Given the description of an element on the screen output the (x, y) to click on. 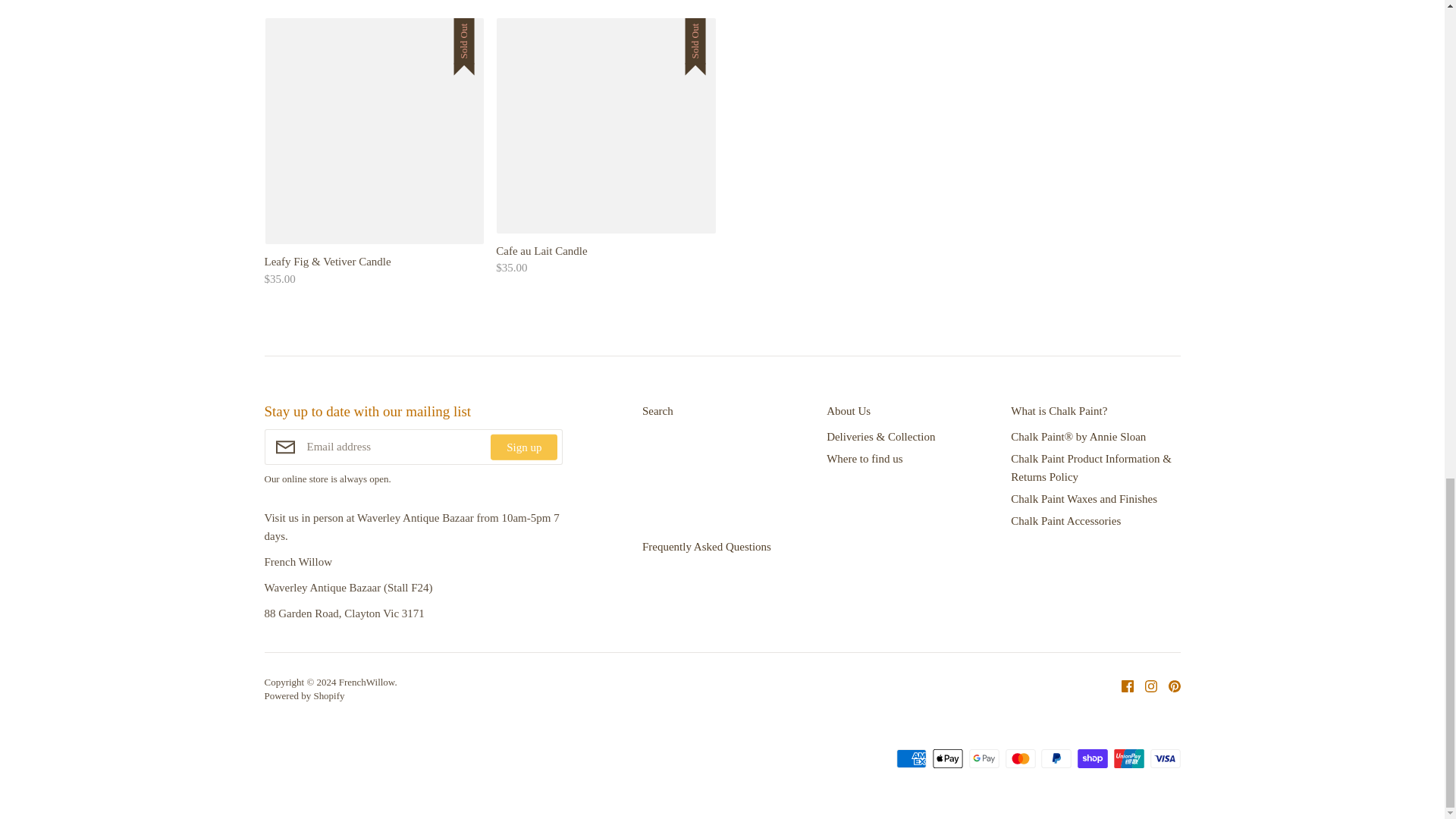
American Express (911, 758)
Shop Pay (1092, 758)
Union Pay (1128, 758)
Mastercard (1020, 758)
Instagram (1144, 684)
Pinterest (1168, 684)
Visa (1164, 758)
Google Pay (983, 758)
Apple Pay (947, 758)
Facebook (1121, 684)
